Given the description of an element on the screen output the (x, y) to click on. 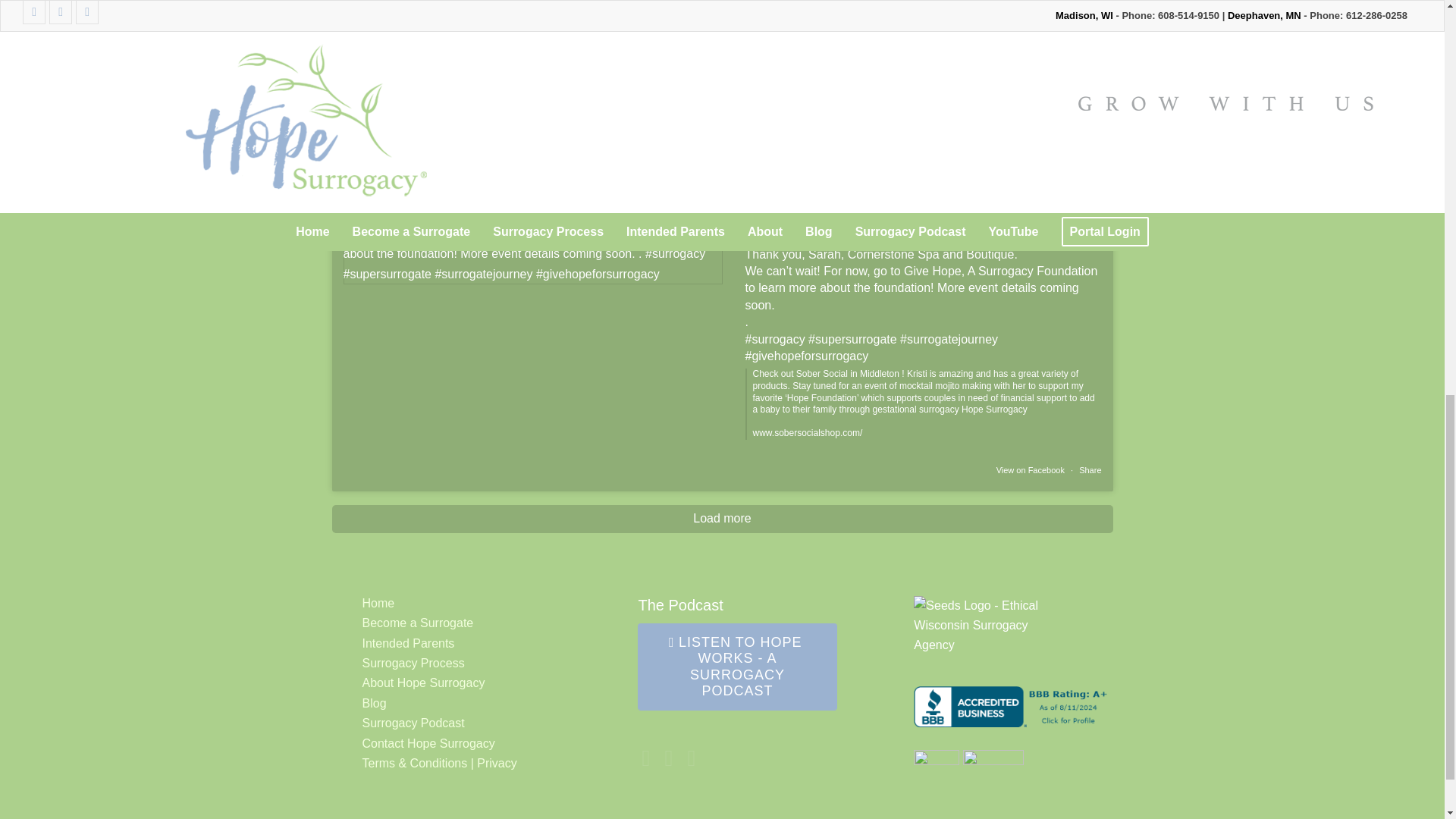
Give Hope, A Surrogacy Foundation (1000, 270)
Hope Surrogacy (823, 213)
Are you interested in becoming a surrogate? (721, 80)
BECOME A SURROGATE (623, 115)
Share (1089, 470)
View on Facebook (1031, 470)
Cornerstone Spa and Boutique (930, 254)
LEARN ABOUT THE PROCESS (805, 115)
